Given the description of an element on the screen output the (x, y) to click on. 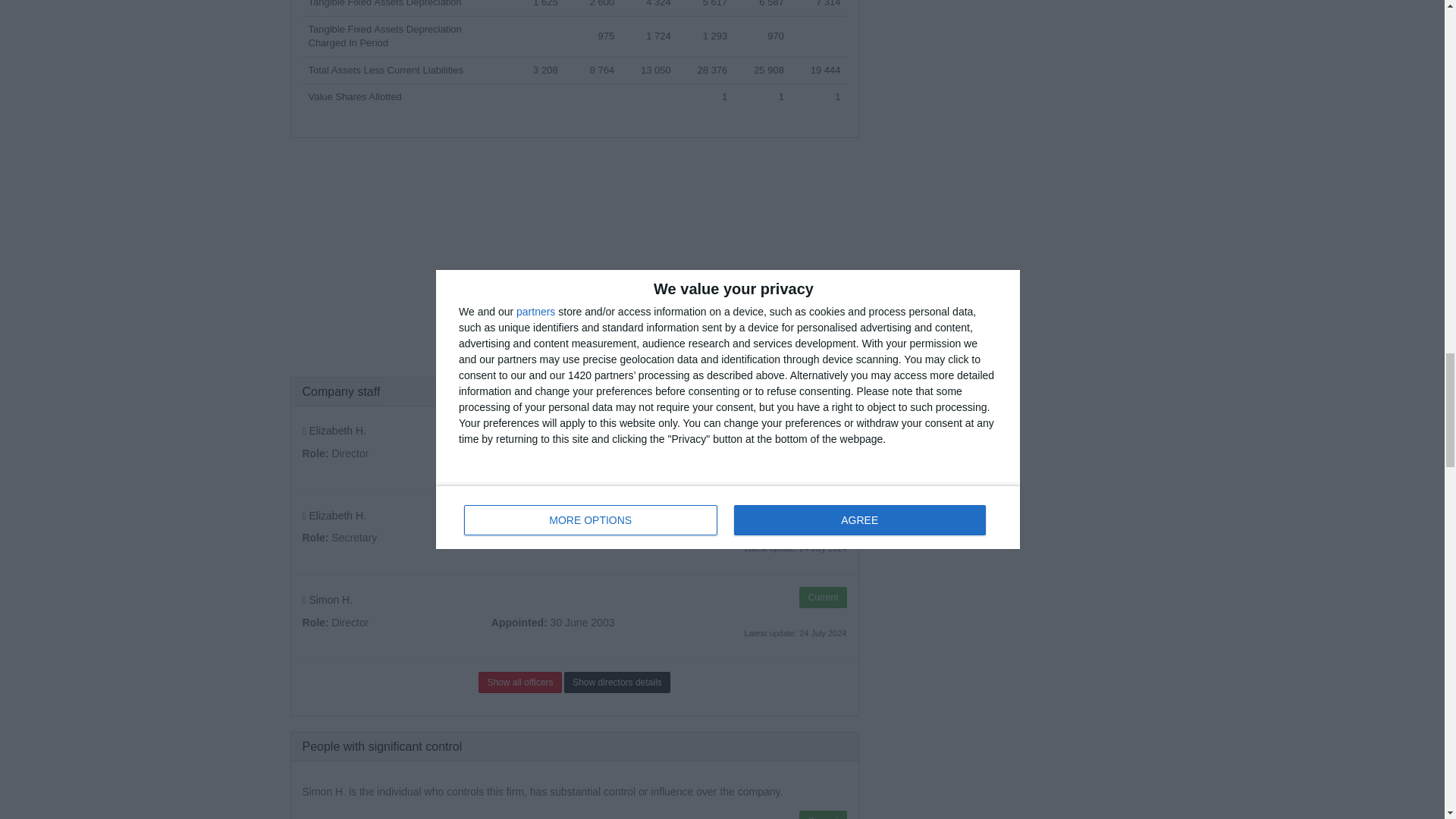
Current (822, 513)
Show all officers (519, 681)
Current (822, 427)
Current (822, 597)
Show directors details (616, 681)
Current (822, 814)
